Given the description of an element on the screen output the (x, y) to click on. 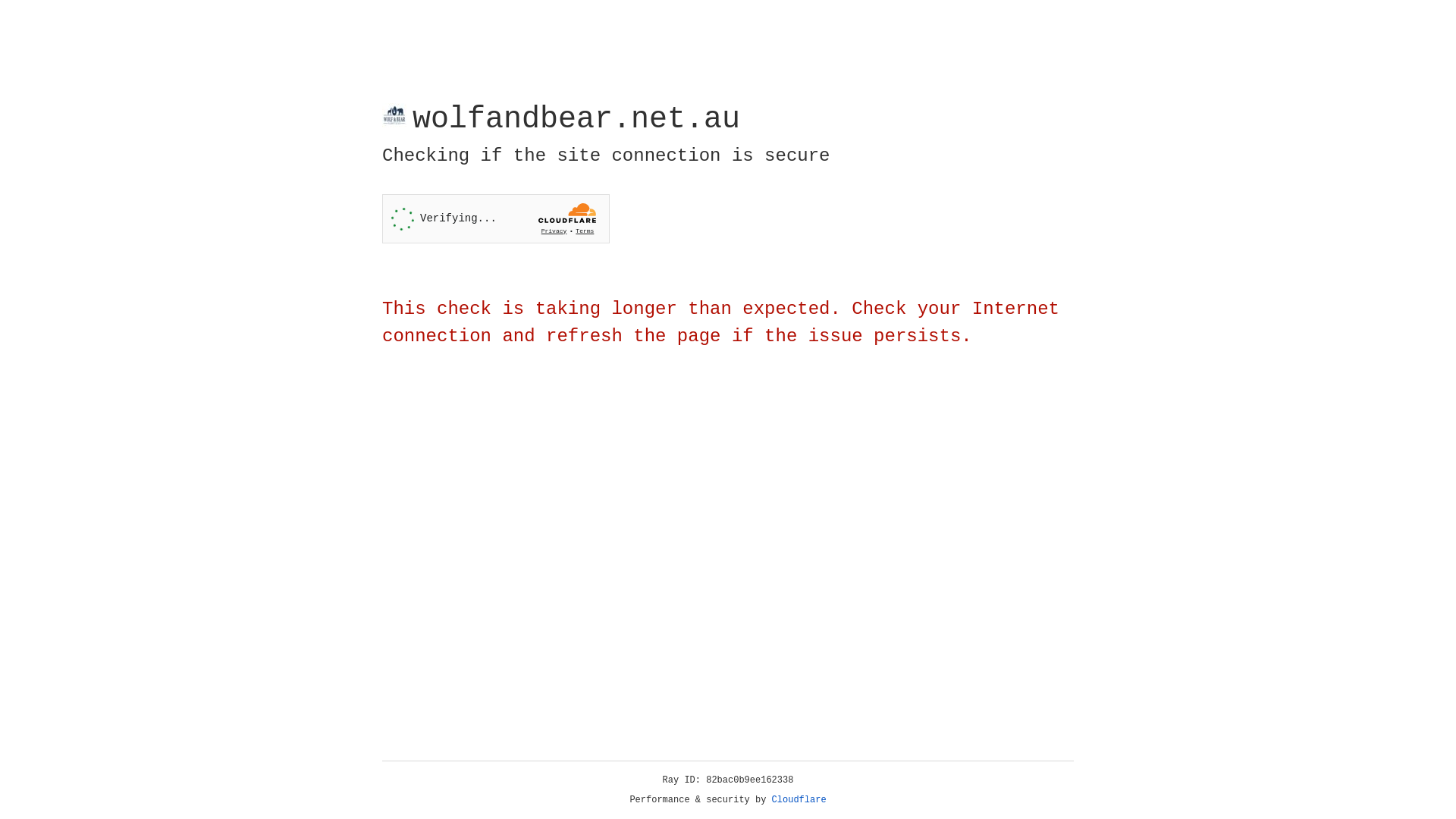
Cloudflare Element type: text (798, 799)
Widget containing a Cloudflare security challenge Element type: hover (495, 218)
